Given the description of an element on the screen output the (x, y) to click on. 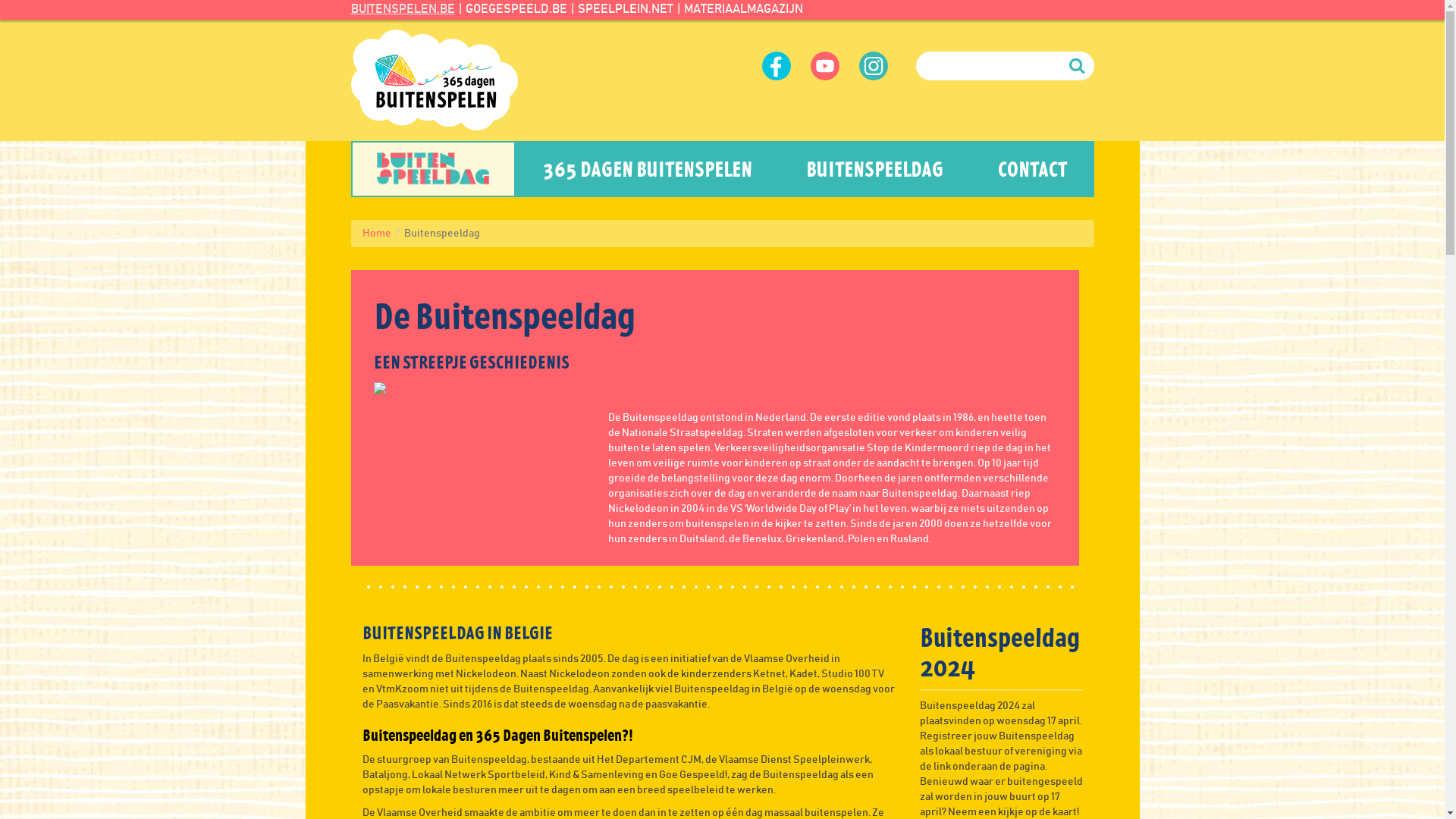
SPEELPLEIN.NET Element type: text (625, 9)
Home Element type: text (376, 233)
Volg ons op Instagram Element type: hover (872, 65)
Volg ons op Youtube Element type: hover (823, 65)
Volg ons op Facebook Element type: hover (775, 65)
GOEGESPEELD.BE Element type: text (516, 9)
HOME Element type: text (432, 169)
CONTACT Element type: text (1032, 169)
365 DAGEN BUITENSPELEN Element type: text (647, 169)
MATERIAALMAGAZIJN Element type: text (743, 9)
BUITENSPEELDAG Element type: text (875, 169)
